Given the description of an element on the screen output the (x, y) to click on. 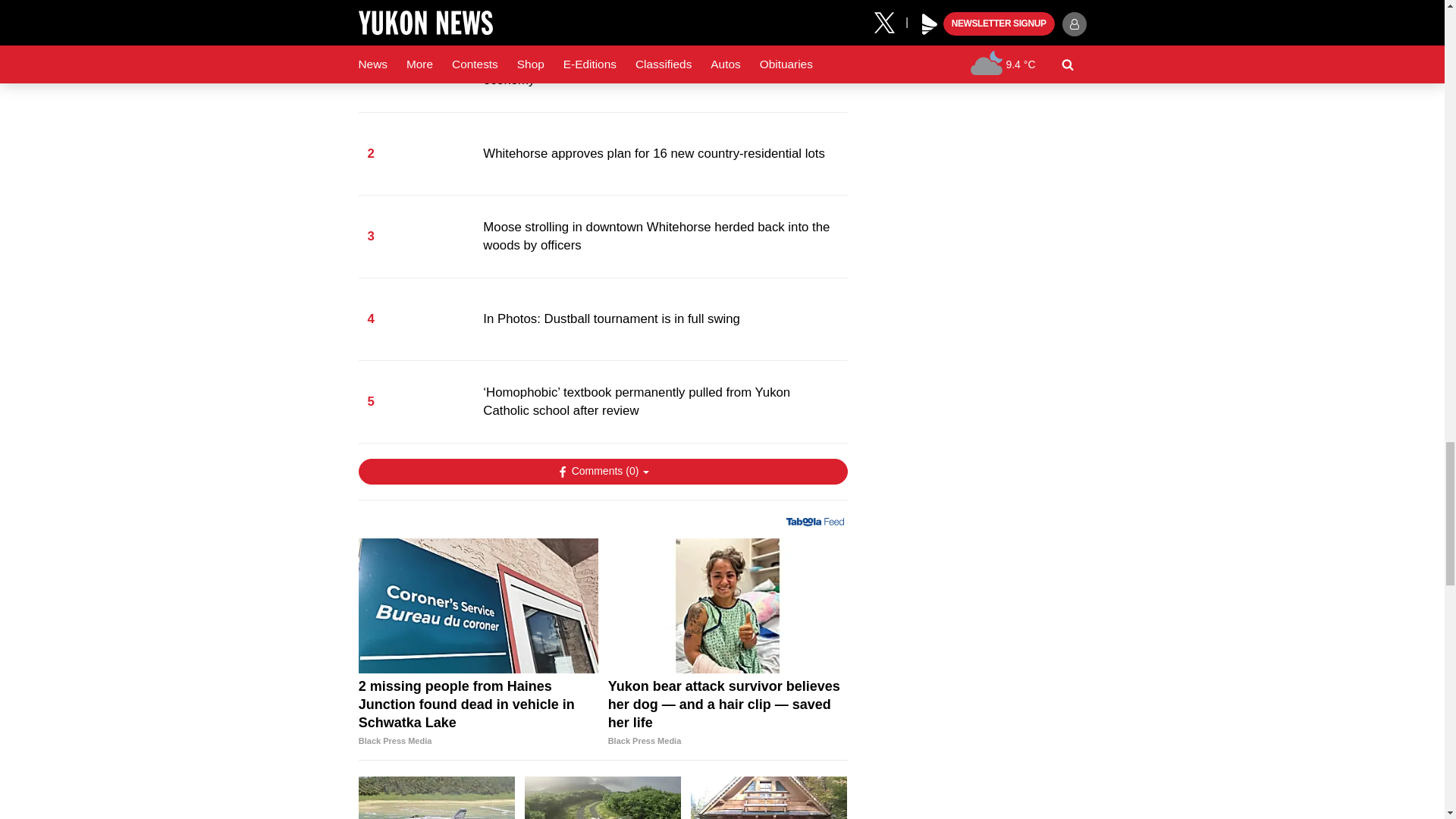
Show Comments (602, 471)
If you own a mouse, play it for 1 minute. (436, 797)
